Given the description of an element on the screen output the (x, y) to click on. 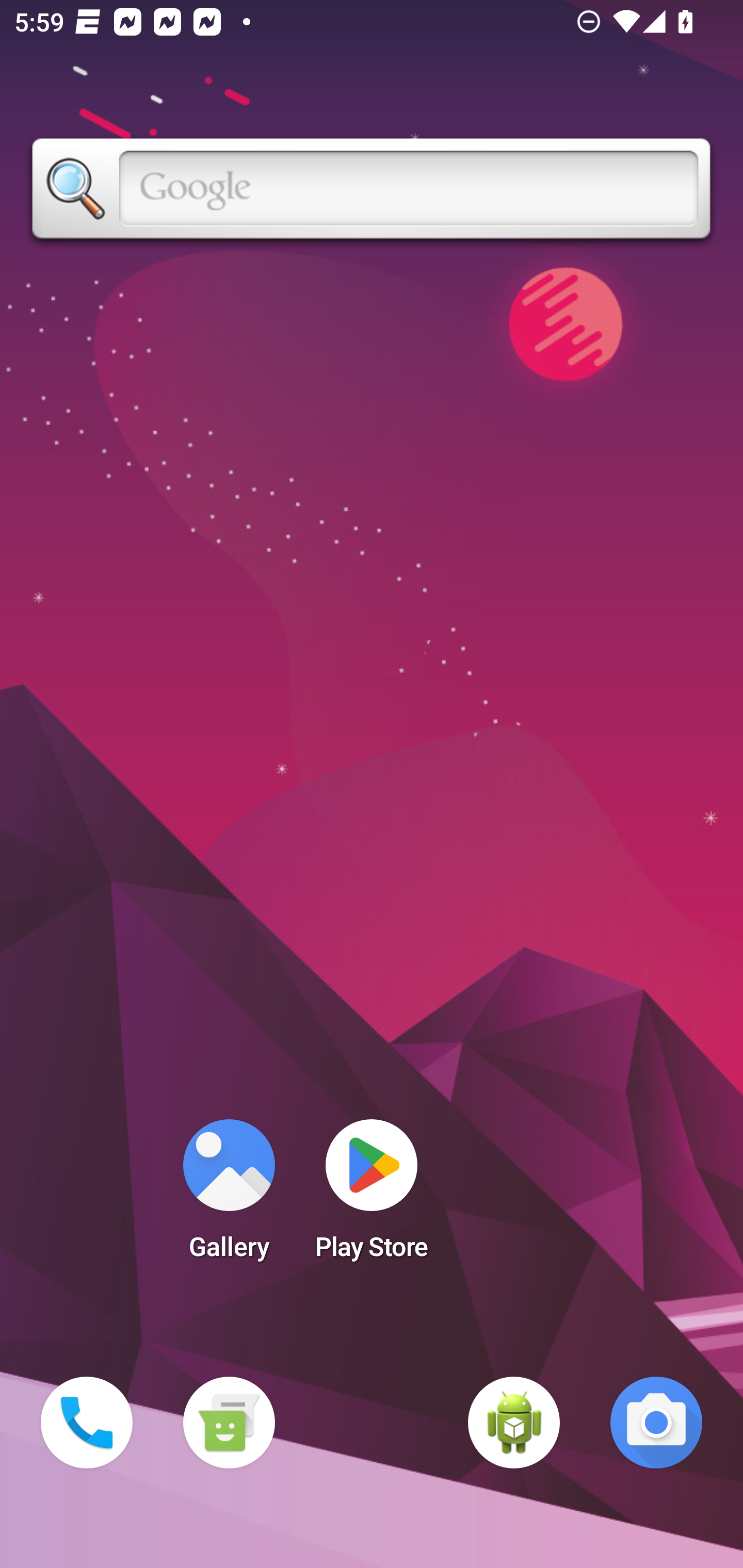
Gallery (228, 1195)
Play Store (371, 1195)
Phone (86, 1422)
Messaging (228, 1422)
WebView Browser Tester (513, 1422)
Camera (656, 1422)
